Given the description of an element on the screen output the (x, y) to click on. 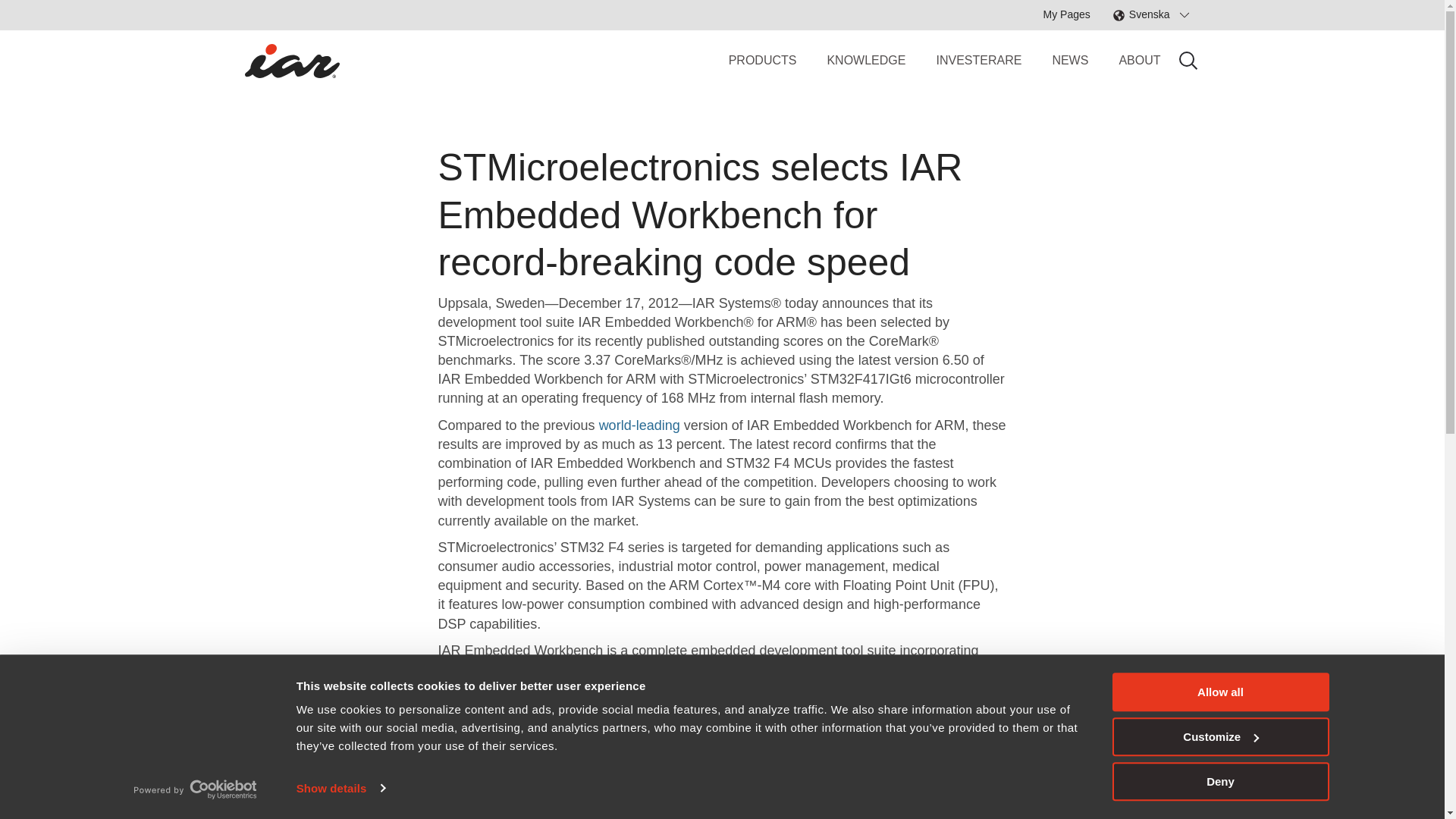
Show details (340, 787)
